Given the description of an element on the screen output the (x, y) to click on. 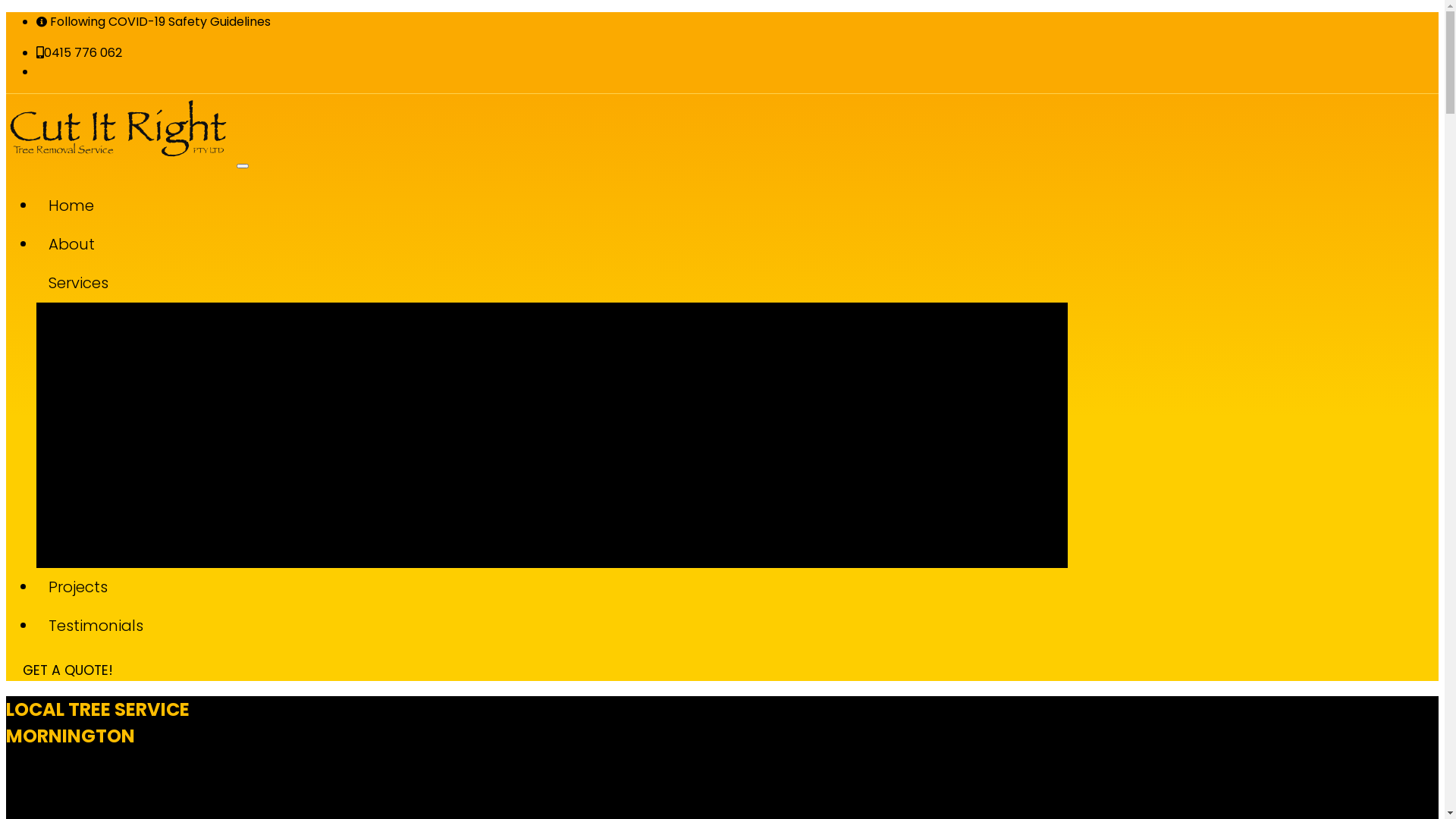
Testimonials Element type: text (551, 625)
Powerline Tree Clearance Element type: text (566, 395)
GET A QUOTE! Element type: text (68, 670)
Projects Element type: text (551, 586)
Hedging Service Element type: text (566, 501)
Tree Bracing (Safety Cabling) Element type: text (566, 554)
Weight Reduction / Tip Pruning Element type: text (566, 474)
Home Element type: text (551, 205)
Tree Pruning Mornington Element type: text (566, 368)
Tree Removal Services Element type: text (566, 315)
Fence Clearance Element type: text (566, 342)
Deadwood Removal Element type: text (566, 421)
Services Element type: text (551, 282)
Pest & Disease Inspection Element type: text (566, 527)
About Element type: text (551, 244)
Consultant Reports Element type: text (566, 448)
0415 776 062 Element type: text (79, 52)
